Given the description of an element on the screen output the (x, y) to click on. 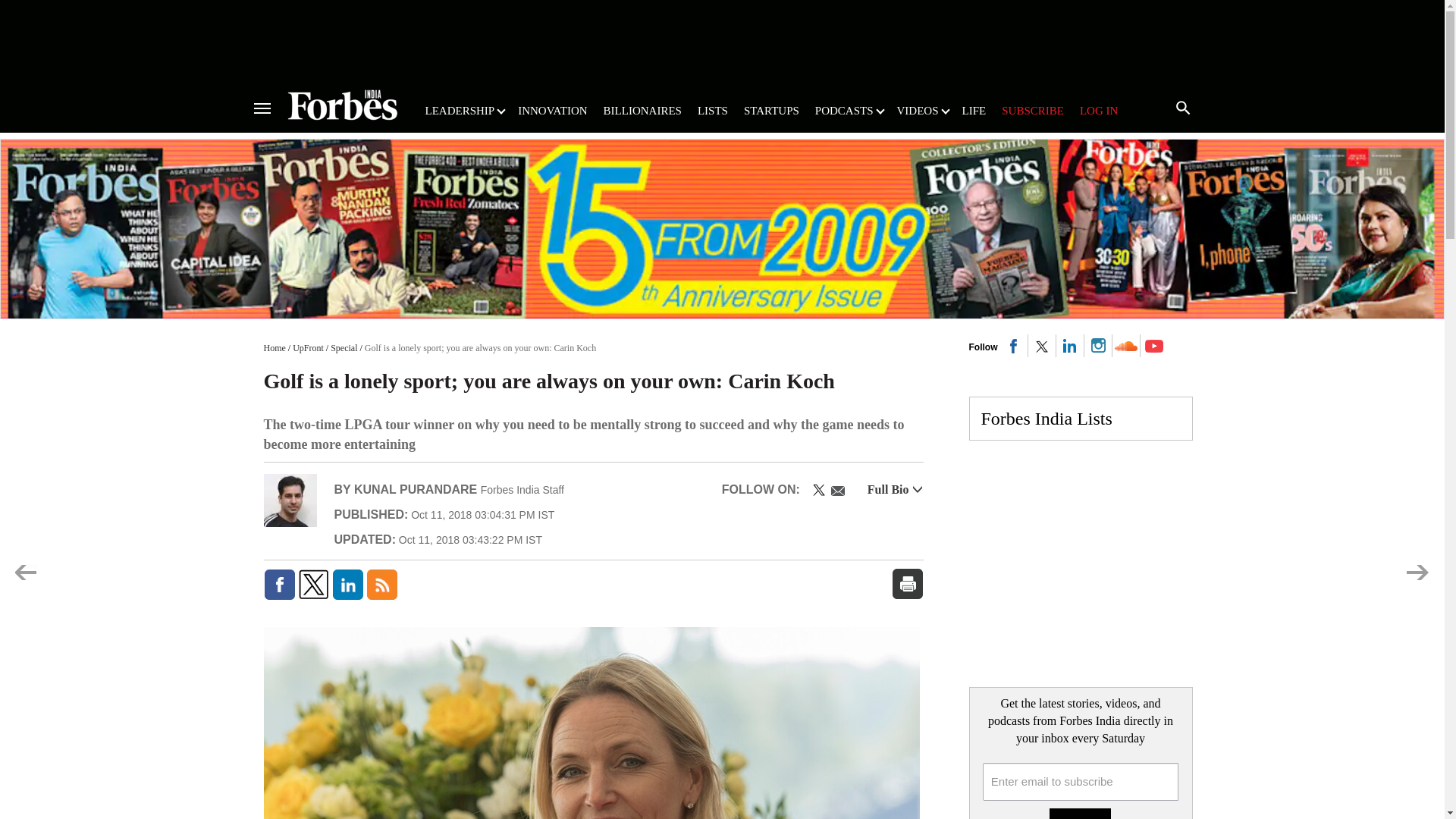
Kunal Purandare (290, 500)
